Given the description of an element on the screen output the (x, y) to click on. 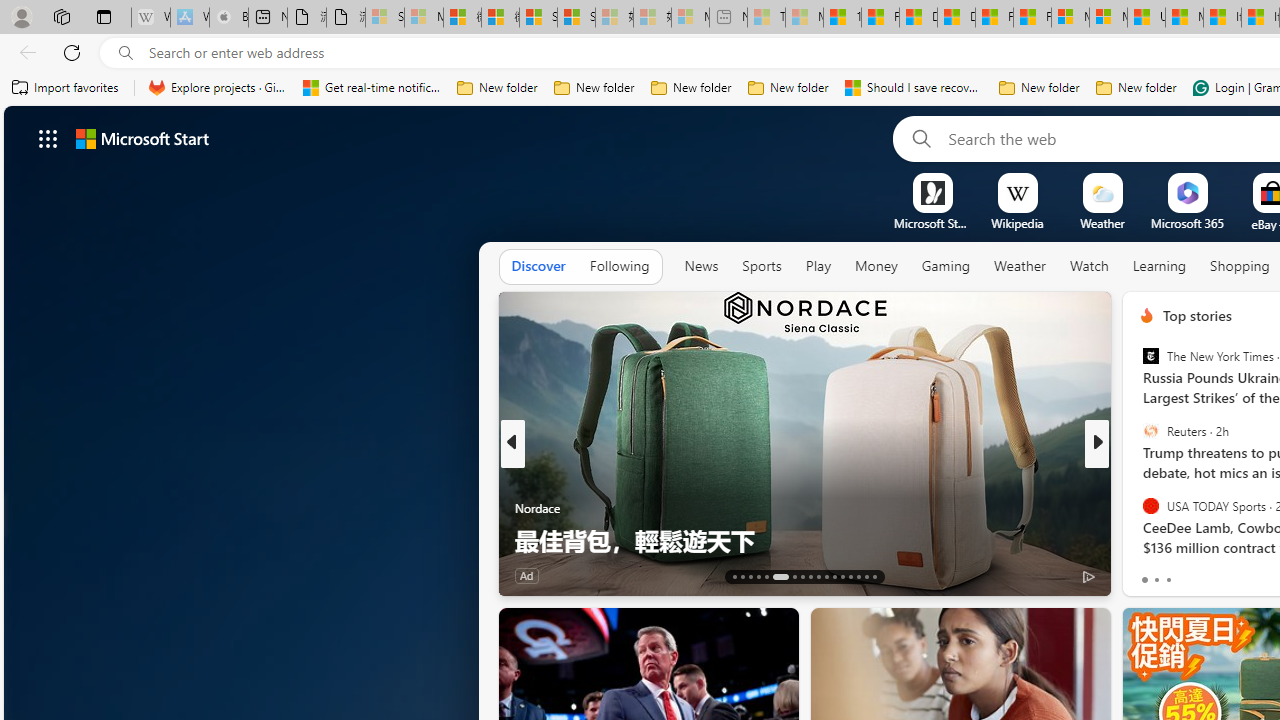
Marine life - MSN - Sleeping (804, 17)
Import favorites (65, 88)
Buy iPad - Apple - Sleeping (228, 17)
View comments 66 Comment (1244, 574)
Business Insider (1138, 475)
Drinking tea every day is proven to delay biological aging (956, 17)
